Given the description of an element on the screen output the (x, y) to click on. 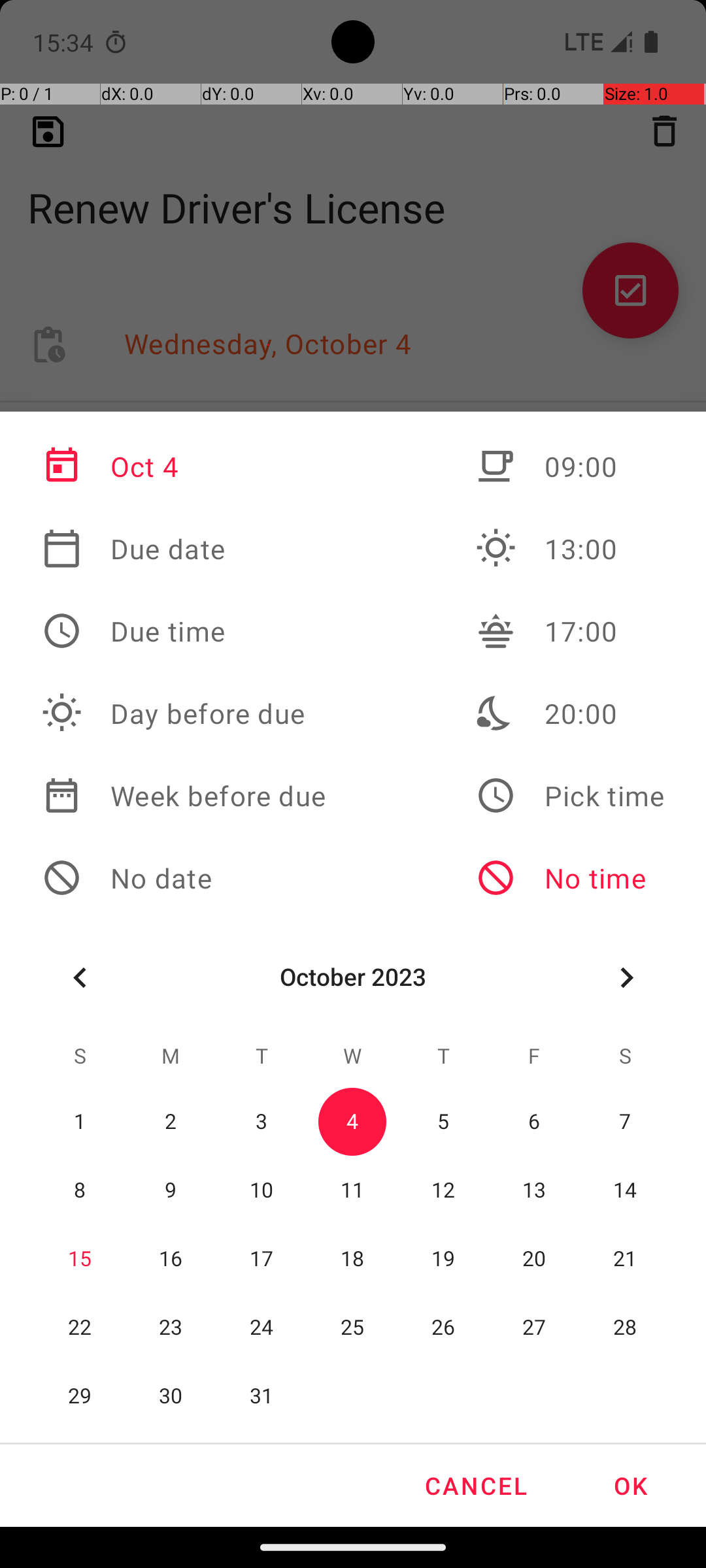
Oct 4 Element type: android.widget.CompoundButton (183, 466)
Due date Element type: android.widget.CompoundButton (183, 548)
Due time Element type: android.widget.CompoundButton (183, 630)
Day before due Element type: android.widget.CompoundButton (183, 713)
Week before due Element type: android.widget.CompoundButton (183, 795)
